Given the description of an element on the screen output the (x, y) to click on. 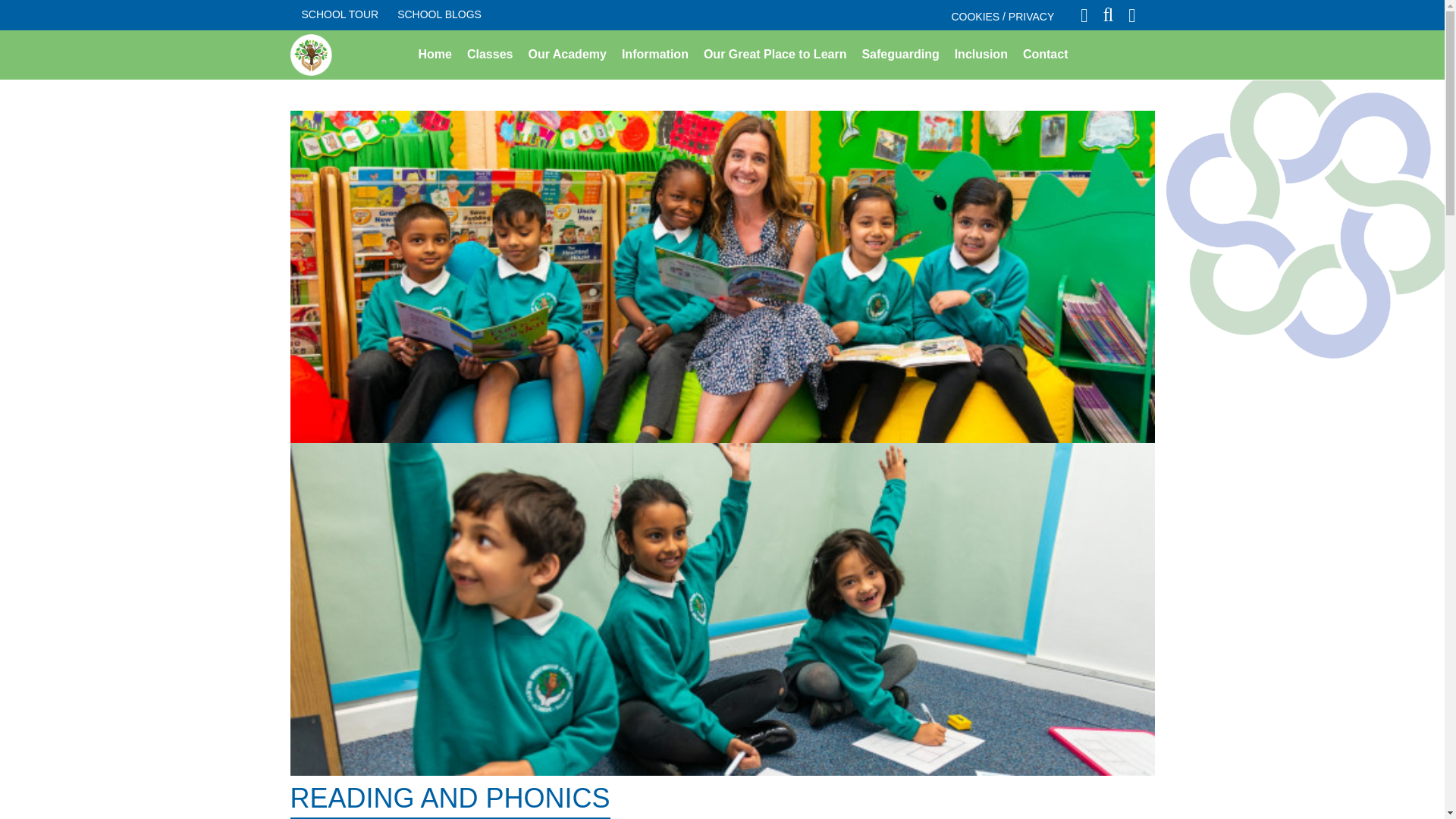
Our Academy (565, 54)
SCHOOL TOUR (344, 15)
Classes (490, 54)
Information (654, 54)
SCHOOL BLOGS (443, 15)
Home (435, 54)
